Given the description of an element on the screen output the (x, y) to click on. 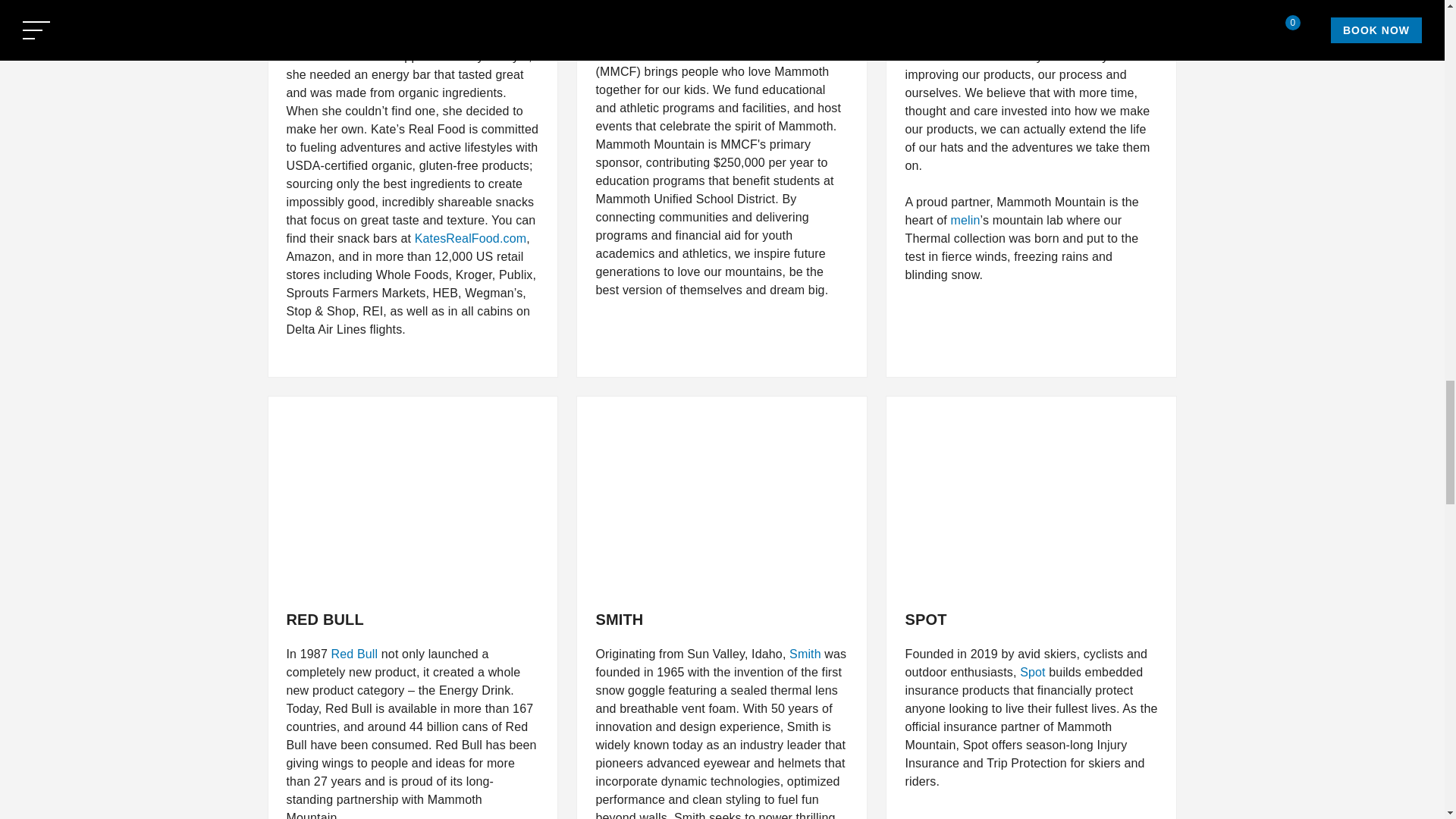
melin (964, 219)
Red Bull (354, 653)
Smith (805, 653)
KatesRealFood.com (470, 237)
Mammoth Mountain Community Foundation (715, 52)
Spot (1032, 671)
